Given the description of an element on the screen output the (x, y) to click on. 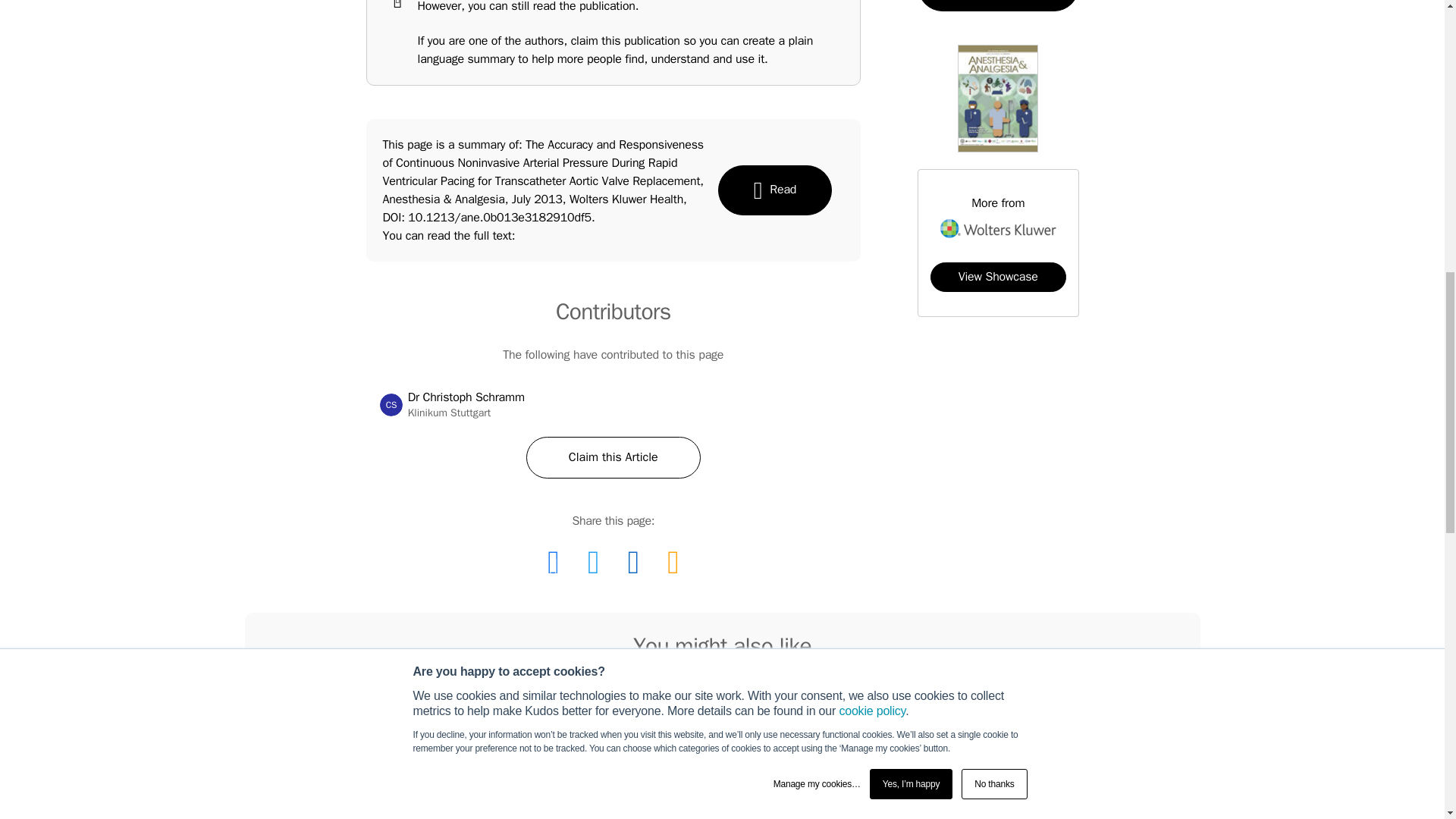
Share this page via Facebook (553, 562)
Claim this Article (391, 404)
Share this page via email (612, 457)
Read (672, 562)
View Showcase (774, 190)
Share this page via Twitter (997, 276)
